Given the description of an element on the screen output the (x, y) to click on. 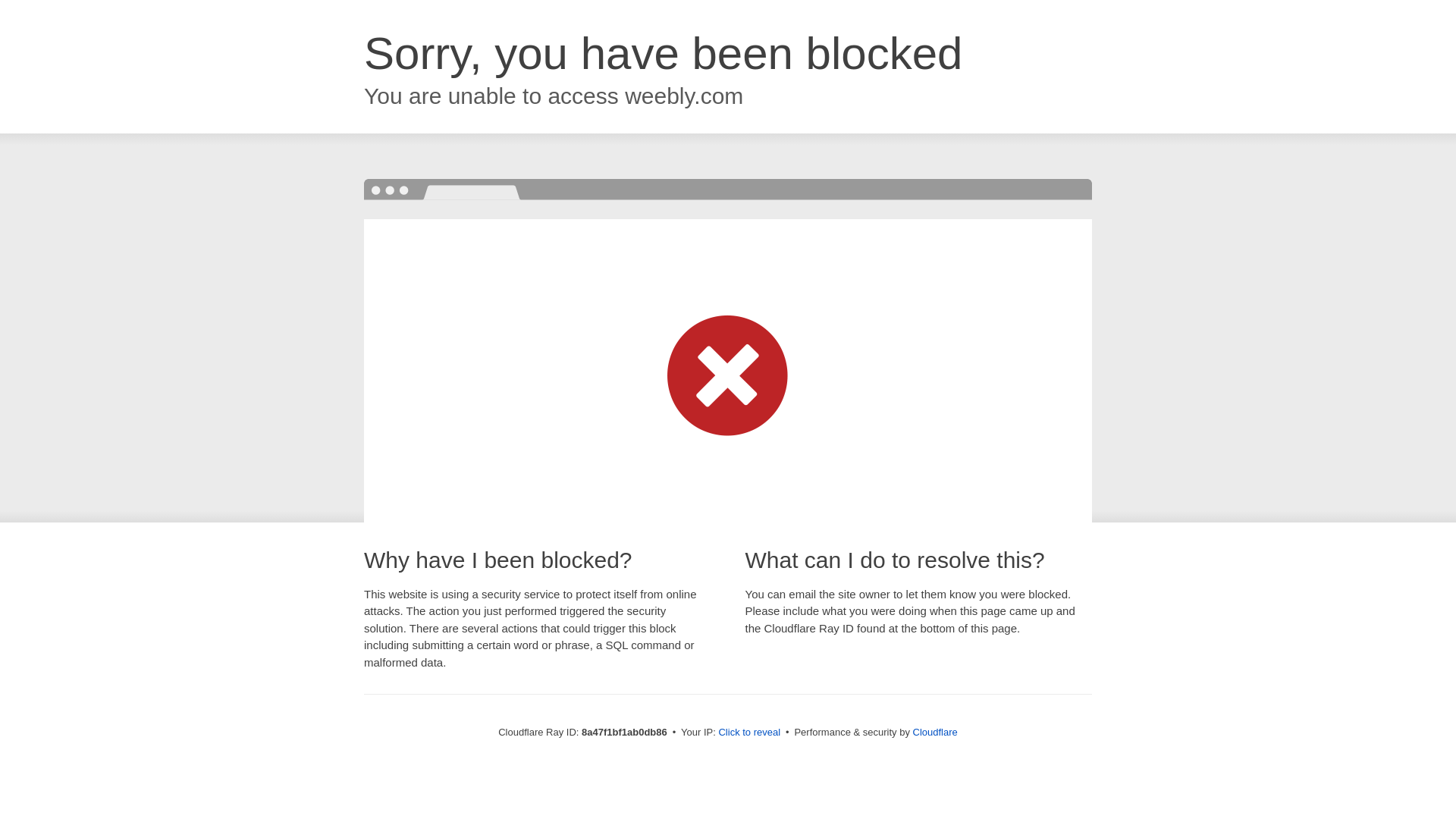
Cloudflare (935, 731)
Click to reveal (748, 732)
